Given the description of an element on the screen output the (x, y) to click on. 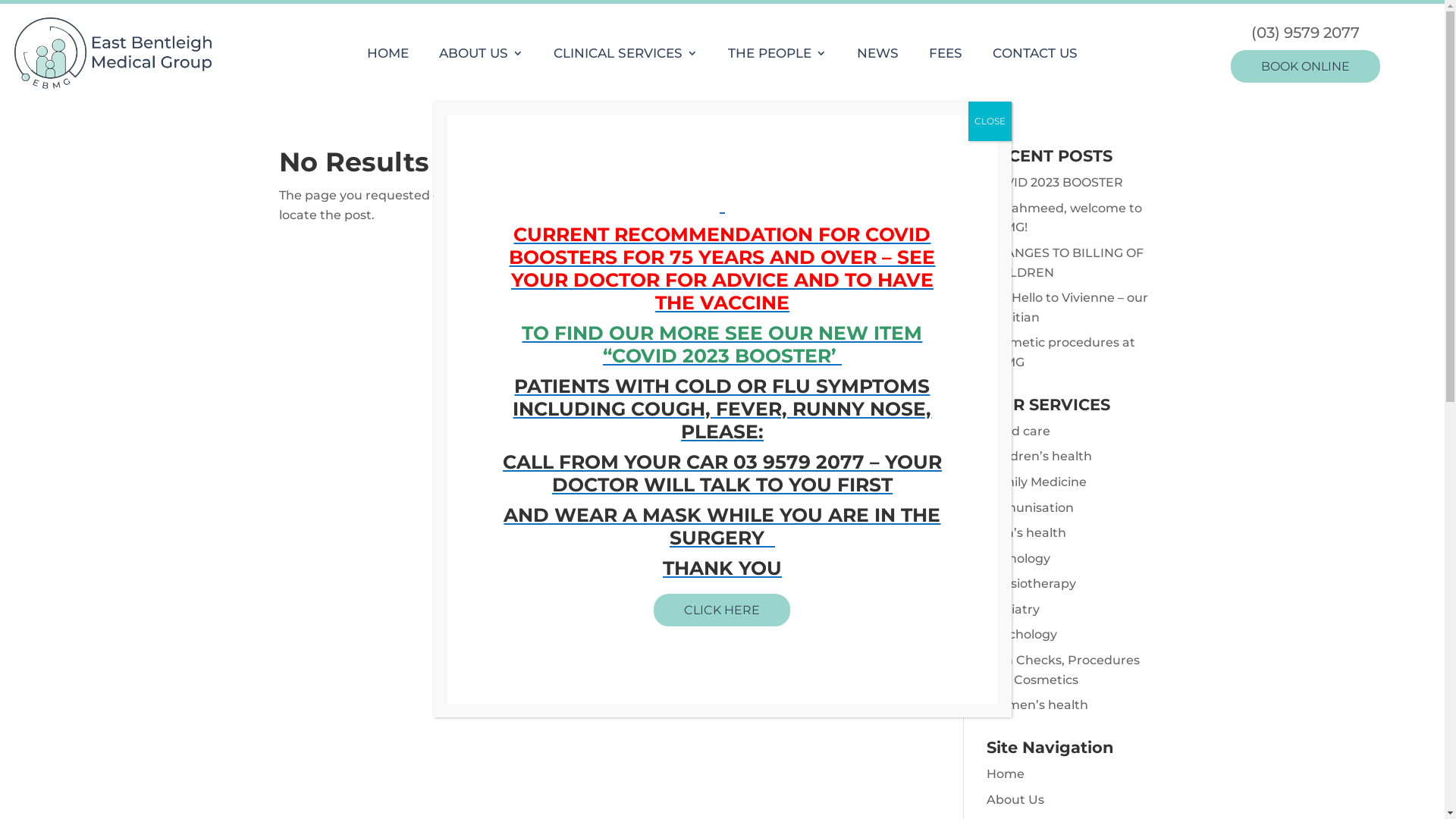
CLICK HERE Element type: text (721, 609)
Psychology Element type: text (1021, 634)
CLINICAL SERVICES Element type: text (625, 55)
Pathology Element type: text (1018, 558)
Skin Checks, Procedures and Cosmetics Element type: text (1062, 669)
Physiotherapy Element type: text (1031, 583)
Cosmetic procedures at EBMG Element type: text (1060, 352)
Home Element type: text (1005, 773)
Aged care Element type: text (1018, 430)
CONTACT US Element type: text (1034, 55)
BOOK ONLINE Element type: text (1305, 66)
Podiatry Element type: text (1012, 609)
Family Medicine Element type: text (1036, 481)
ABOUT US Element type: text (481, 55)
FEES Element type: text (945, 55)
Immunisation Element type: text (1029, 507)
COVID 2023 BOOSTER Element type: text (1054, 182)
Text Logo Colour Element type: hover (112, 52)
CLOSE Element type: text (988, 121)
HOME Element type: text (387, 55)
NEWS Element type: text (877, 55)
CHANGES TO BILLING OF CHILDREN Element type: text (1064, 262)
Dr Tahmeed, welcome to EBMG! Element type: text (1064, 217)
THE PEOPLE Element type: text (777, 55)
About Us Element type: text (1015, 799)
